Given the description of an element on the screen output the (x, y) to click on. 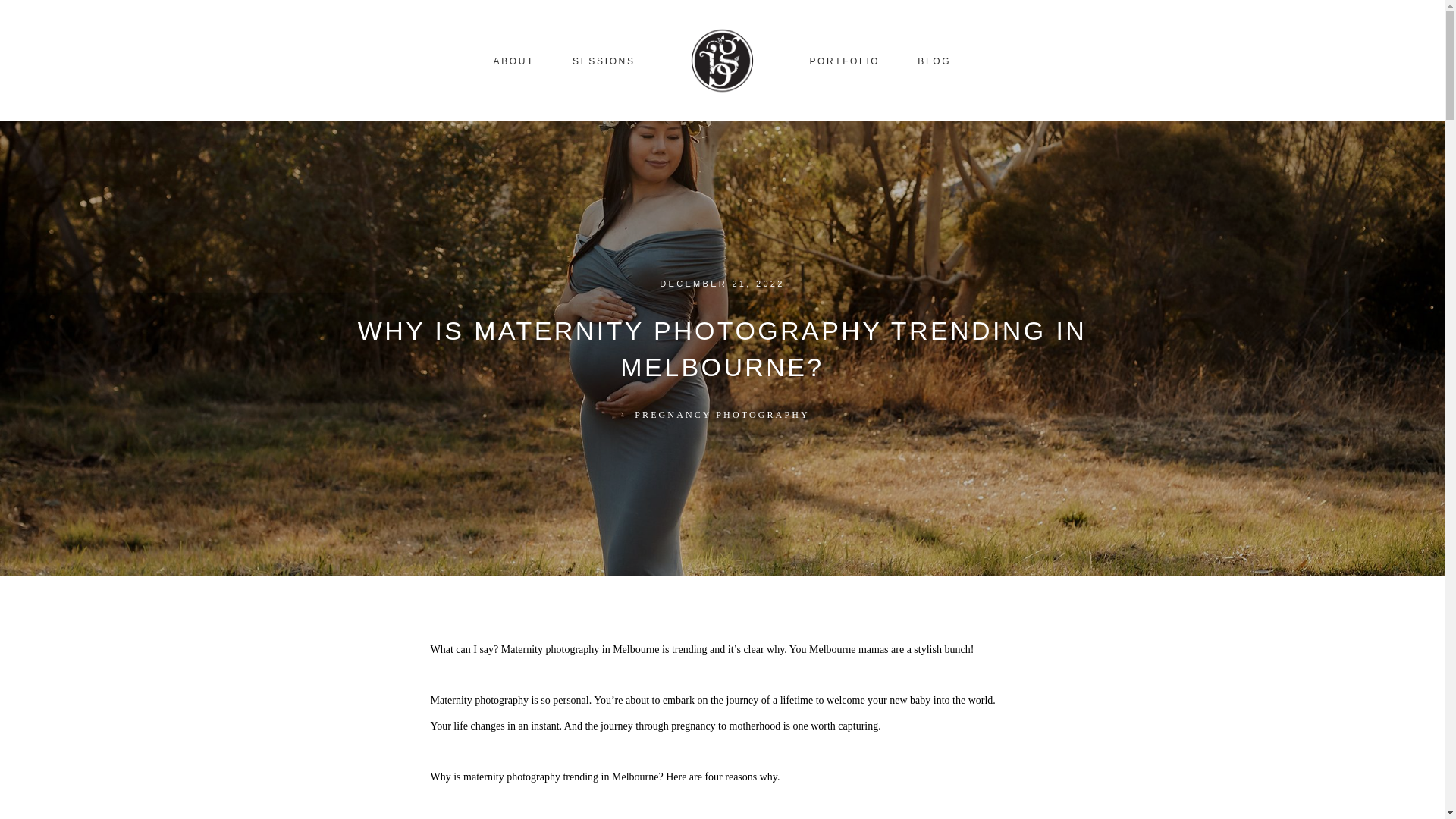
ABOUT (514, 61)
PORTFOLIO (844, 61)
SESSIONS (603, 61)
BLOG (933, 61)
